Given the description of an element on the screen output the (x, y) to click on. 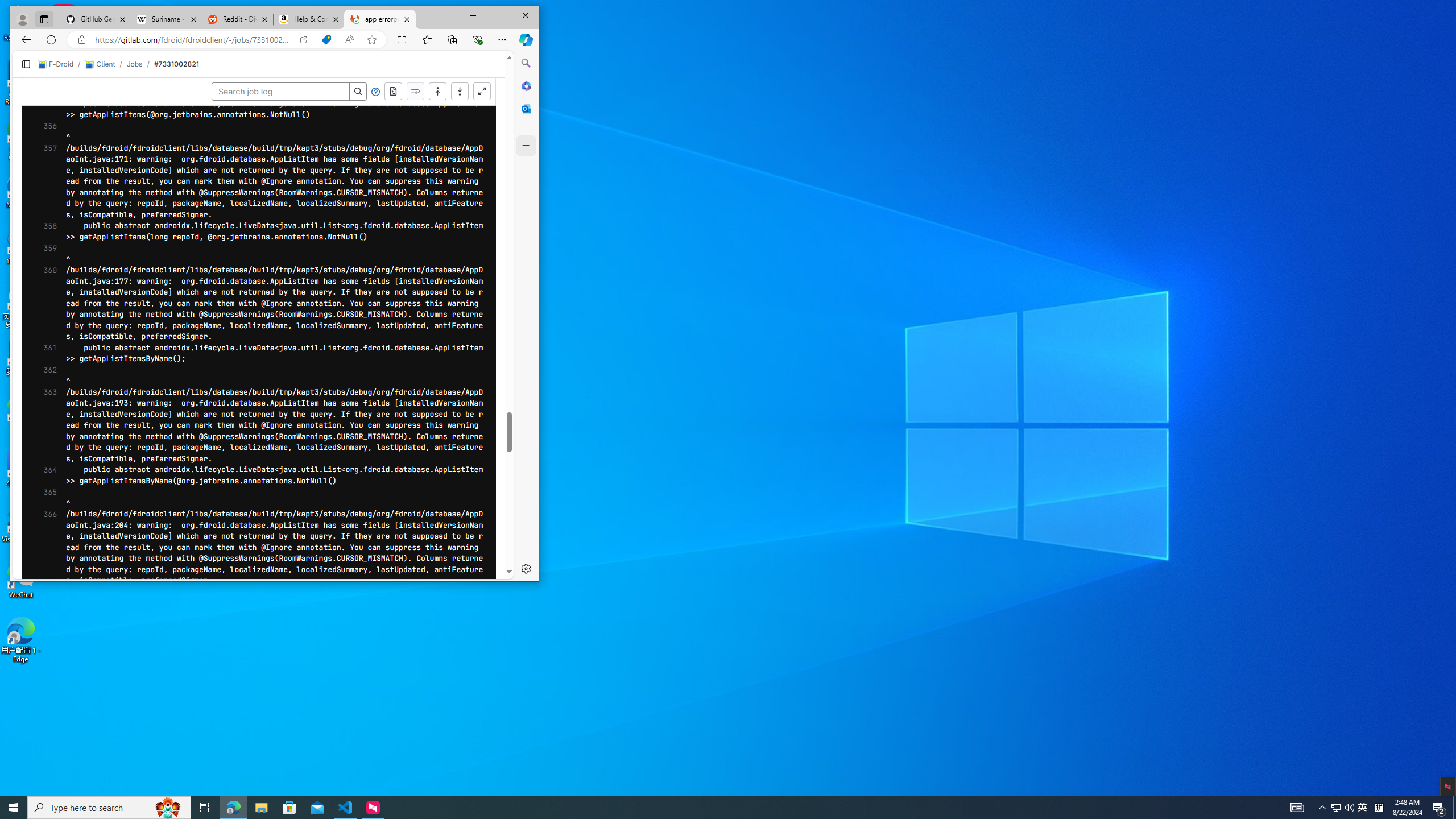
423 (41, 399)
426 (41, 432)
449 (41, 689)
421 (41, 377)
Show desktop (1454, 807)
Search highlights icon opens search home window (167, 807)
Type here to search (108, 807)
418 (41, 344)
439 (41, 577)
431 (41, 488)
